Given the description of an element on the screen output the (x, y) to click on. 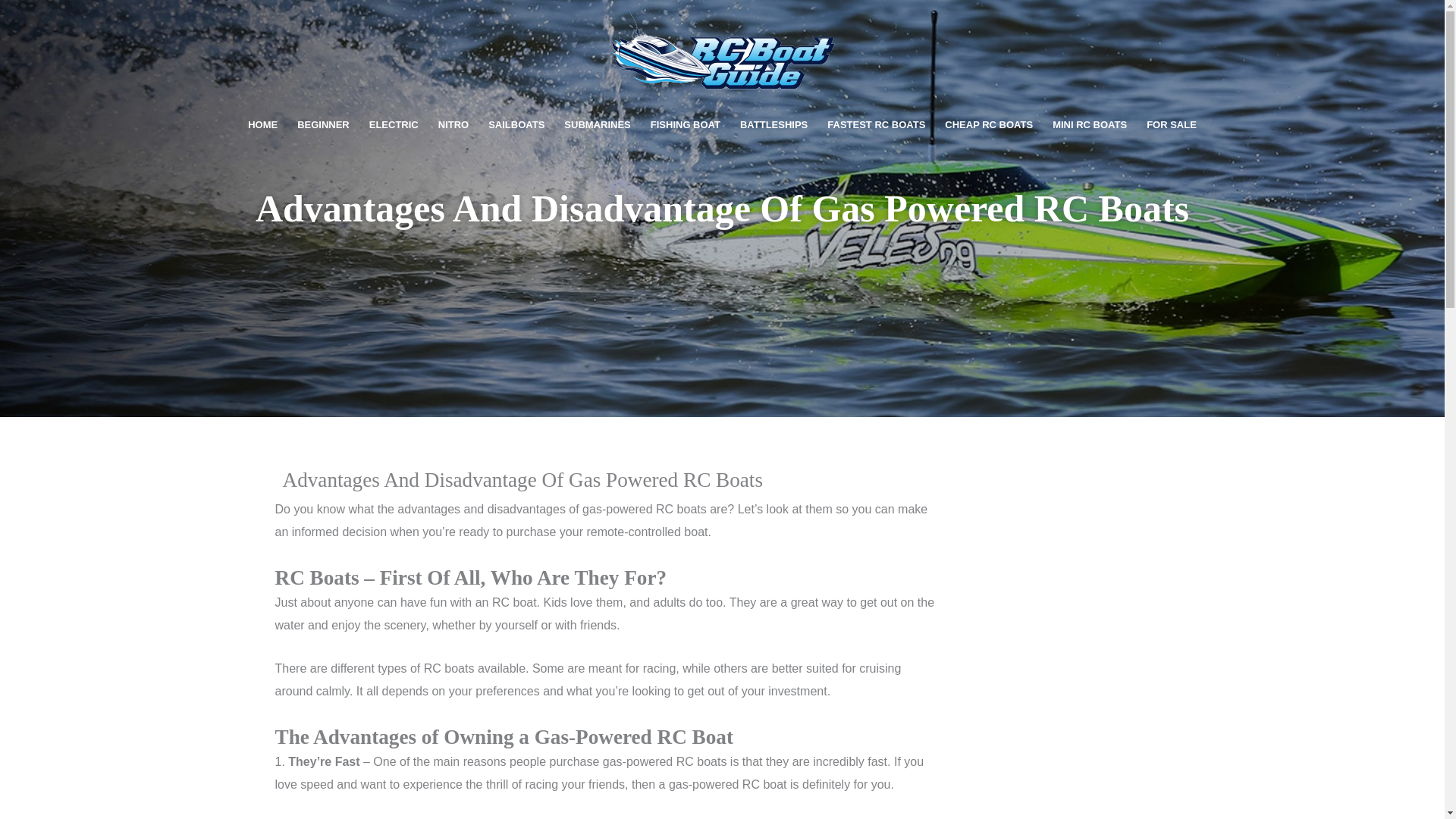
SUBMARINES (597, 125)
FASTEST RC BOATS (875, 125)
BATTLESHIPS (773, 125)
FISHING BOAT (685, 125)
MINI RC BOATS (1089, 125)
HOME (262, 125)
BEGINNER (322, 125)
SAILBOATS (516, 125)
CHEAP RC BOATS (988, 125)
FOR SALE (1172, 125)
